Given the description of an element on the screen output the (x, y) to click on. 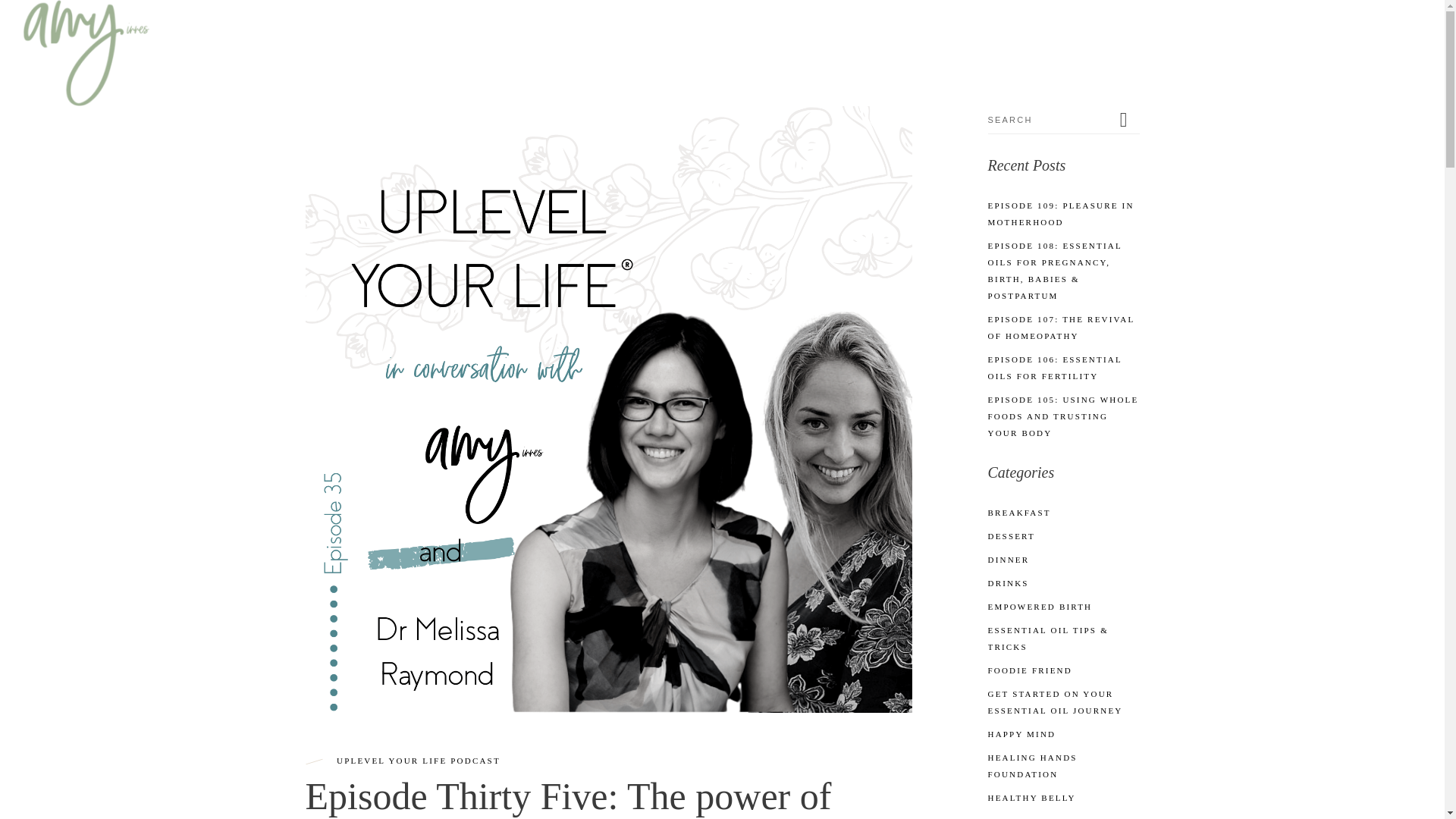
Search for: (1049, 119)
HELPFUL LINKS (1214, 38)
PODCAST (1037, 38)
COURSES (951, 38)
ORDER ESSENTIAL OILS (824, 38)
ABOUT (1116, 38)
CONTACT (1382, 38)
